Given the description of an element on the screen output the (x, y) to click on. 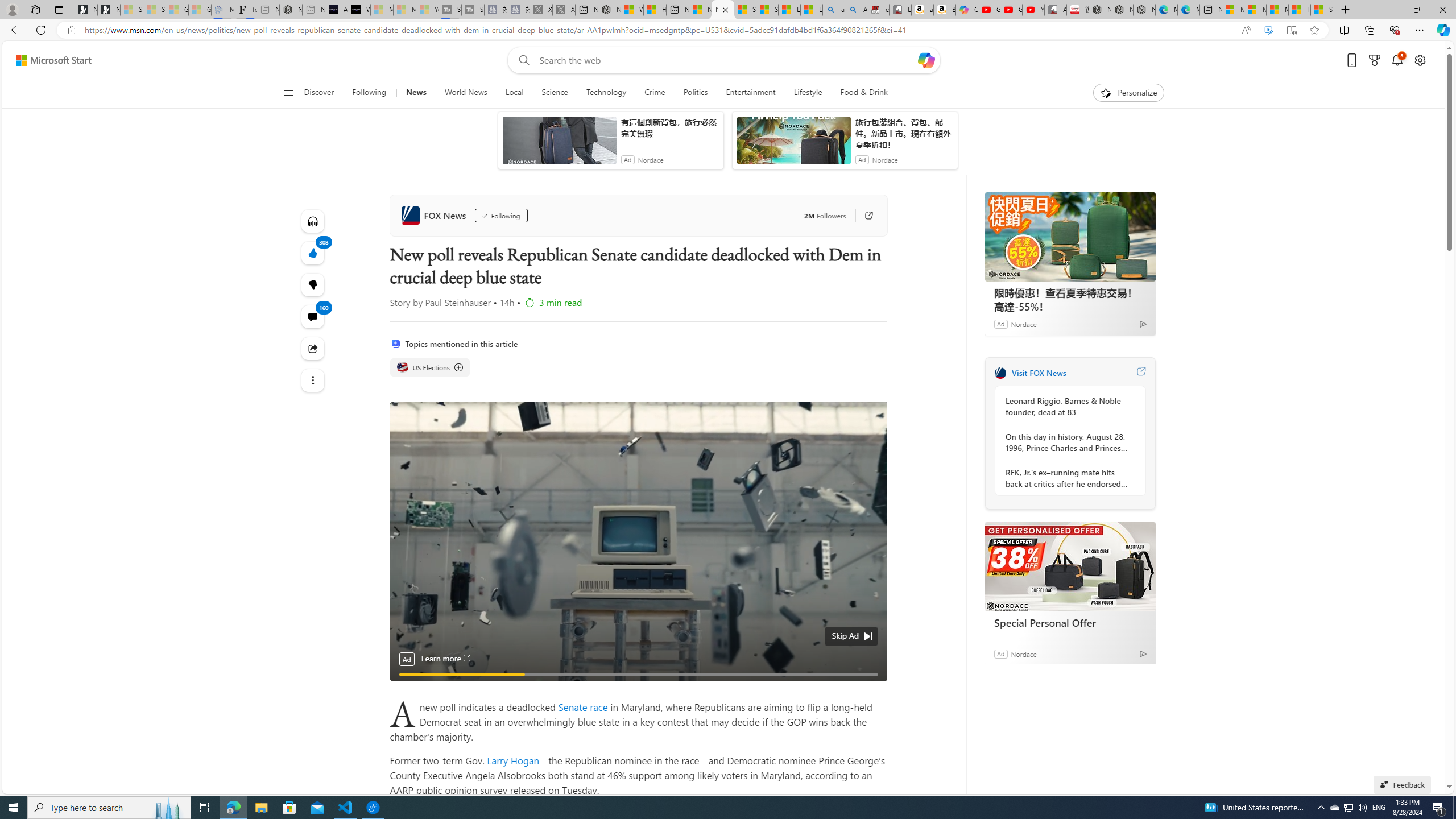
All Cubot phones (1055, 9)
Personalize (1128, 92)
Pause (406, 687)
Skip to content (49, 59)
Nordace - My Account (609, 9)
Leonard Riggio, Barnes & Noble founder, dead at 83 (1066, 406)
Science (554, 92)
